Given the description of an element on the screen output the (x, y) to click on. 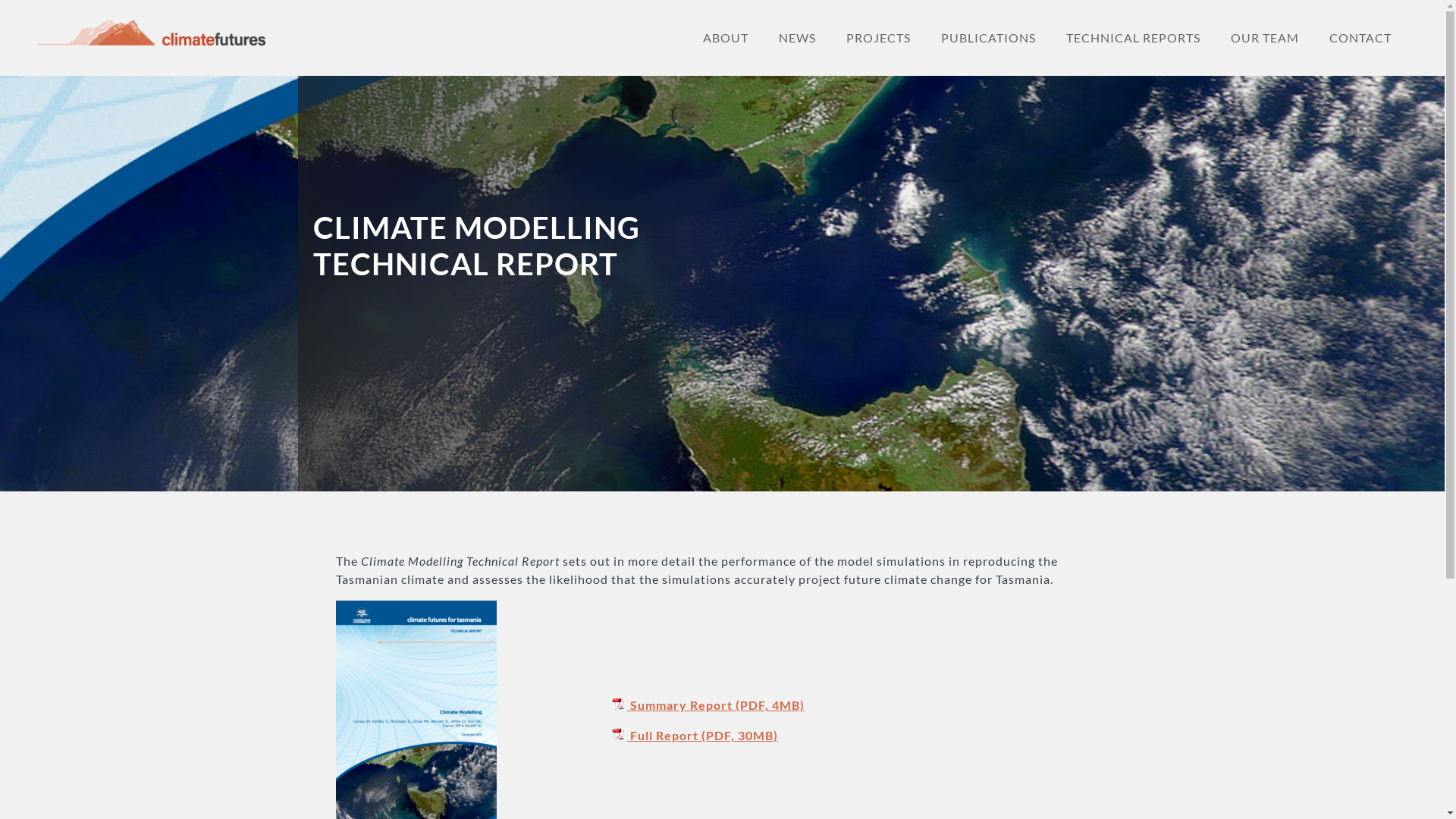
TECHNICAL REPORTS Element type: text (1133, 37)
OUR TEAM Element type: text (1264, 37)
Summary Report (PDF, 4MB) Element type: text (706, 704)
Full Report (PDF, 30MB) Element type: text (693, 735)
PROJECTS Element type: text (878, 37)
PUBLICATIONS Element type: text (988, 37)
NEWS Element type: text (797, 37)
ABOUT Element type: text (725, 37)
CONTACT Element type: text (1360, 37)
